Given the description of an element on the screen output the (x, y) to click on. 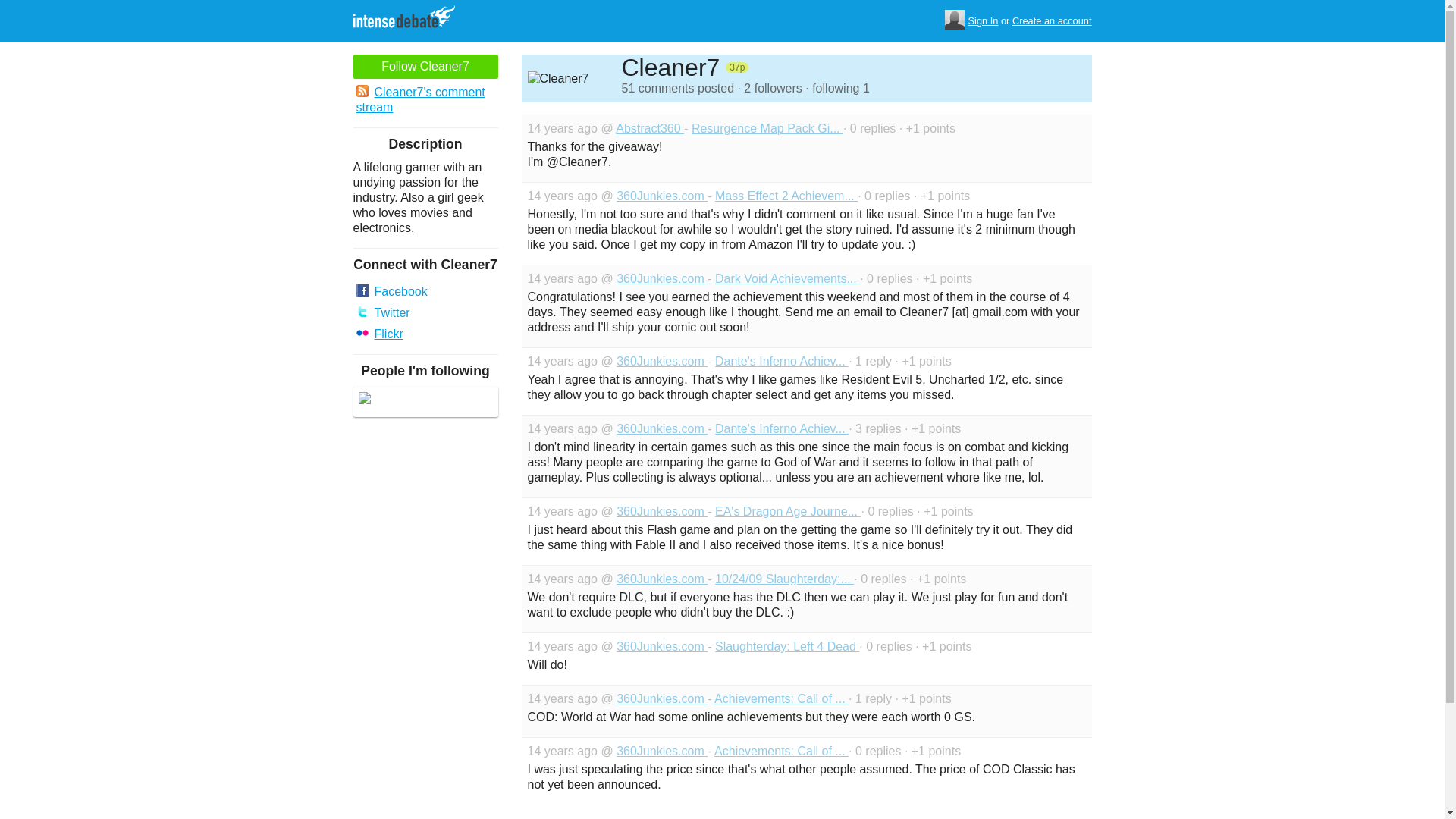
360Junkies.com (661, 578)
Slaughterday: Left 4 Dead (786, 645)
Achievements: Call of ... (781, 698)
360Junkies.com (661, 428)
360Junkies.com (661, 750)
Sign In (983, 21)
Cleaner7's comment stream (425, 99)
360Junkies.com (661, 360)
Flickr (425, 333)
